Given the description of an element on the screen output the (x, y) to click on. 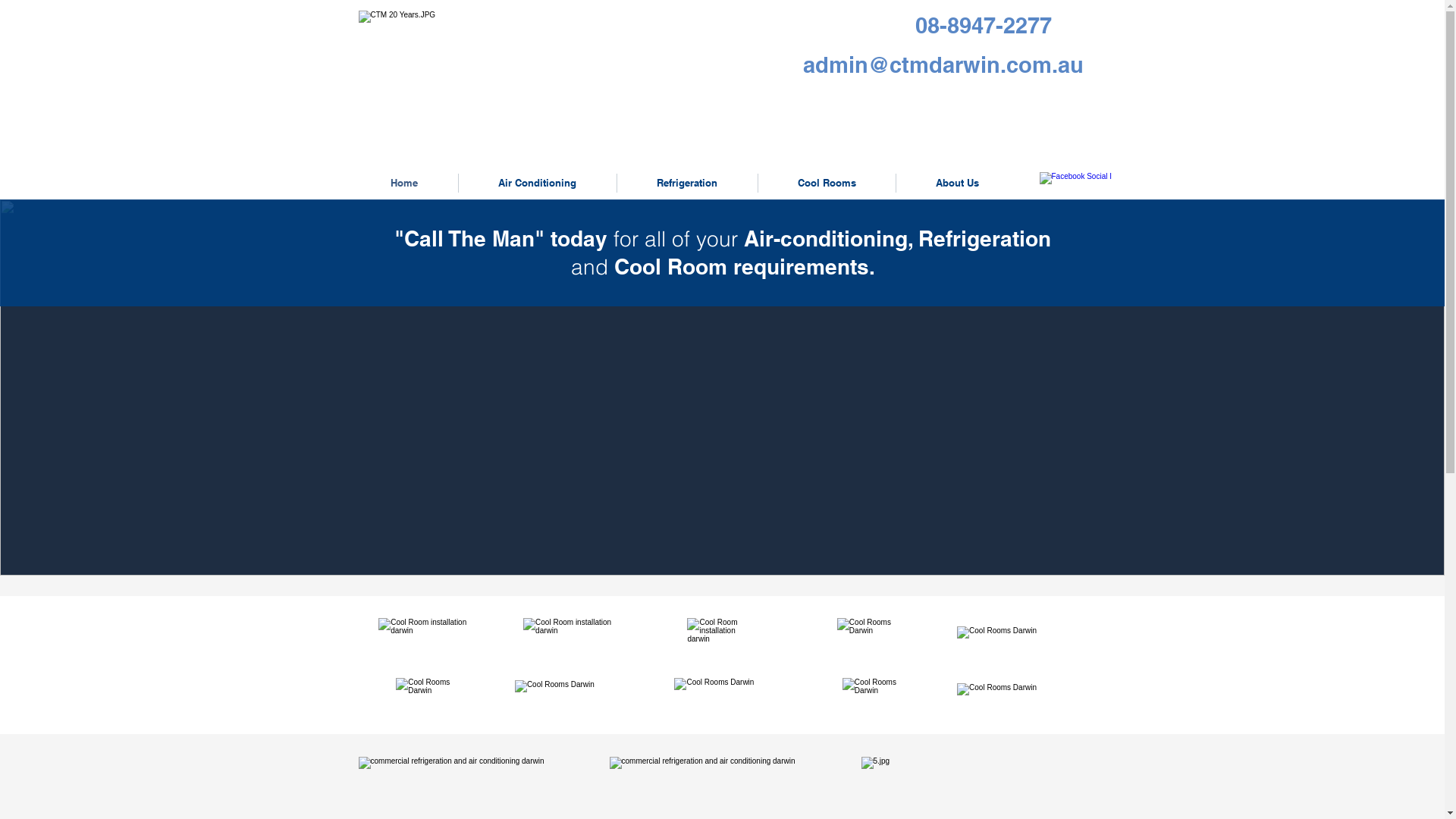
ctmlogo.png Element type: hover (423, 66)
Air Conditioning Element type: text (536, 182)
Cool Rooms Element type: text (826, 182)
Refrigeration Element type: text (687, 182)
admin@ctmdarwin.com.au Element type: text (942, 64)
Home Element type: text (403, 182)
